Given the description of an element on the screen output the (x, y) to click on. 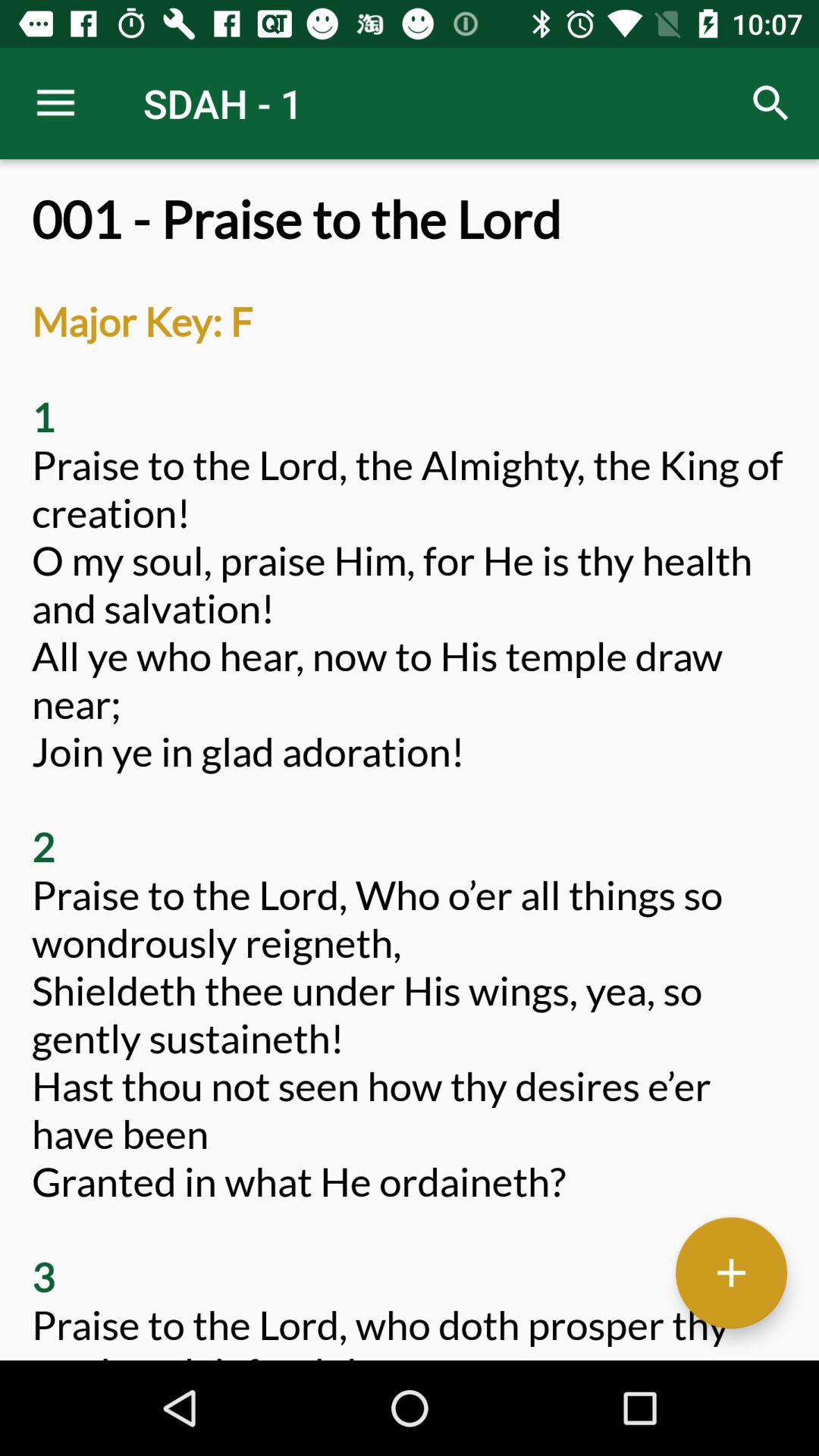
turn on item at the top right corner (771, 103)
